Given the description of an element on the screen output the (x, y) to click on. 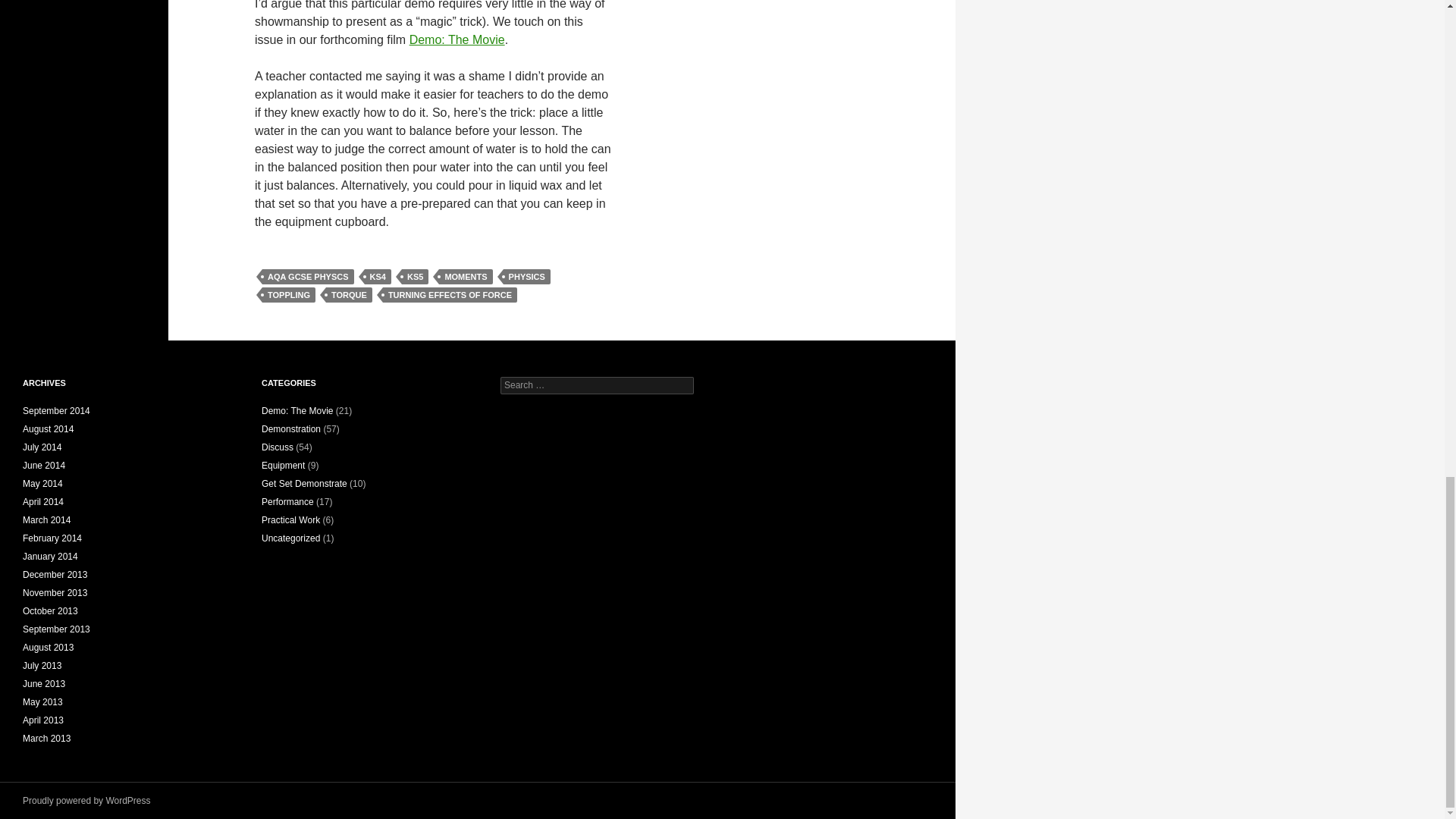
KS5 (414, 276)
TORQUE (349, 294)
MOMENTS (465, 276)
PHYSICS (526, 276)
KS4 (378, 276)
TOPPLING (288, 294)
Demo: The Movie (457, 39)
TURNING EFFECTS OF FORCE (449, 294)
AQA GCSE PHYSCS (307, 276)
